Given the description of an element on the screen output the (x, y) to click on. 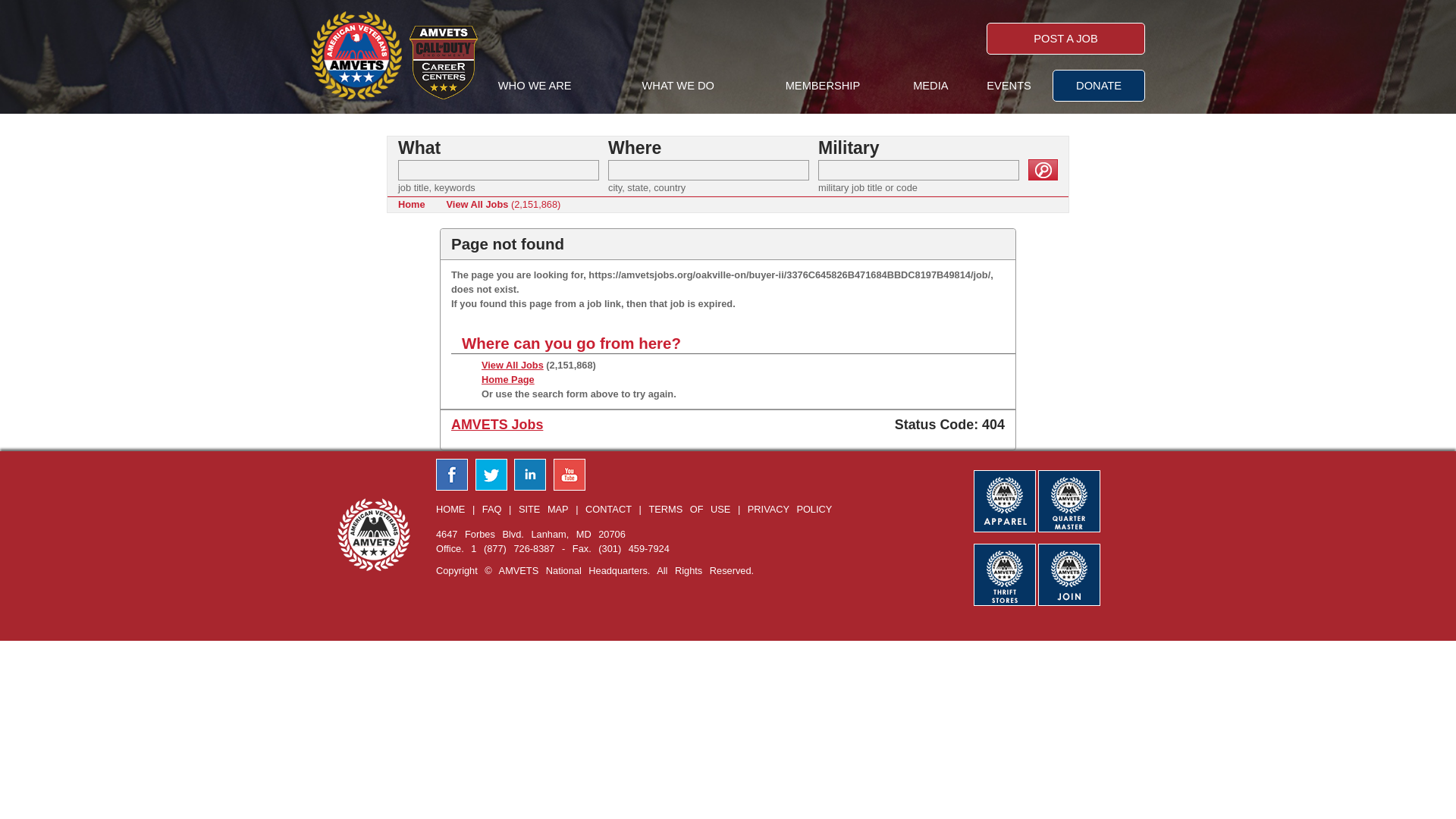
MEMBERSHIP (823, 86)
search (1042, 169)
MEDIA (929, 86)
Submit Search (1042, 169)
AMVETS National Headquarters (356, 55)
WHO WE ARE (534, 86)
Search Phrase (497, 169)
WHAT WE DO (678, 86)
Search Location (708, 169)
Search MOC (918, 169)
POST A JOB (1065, 38)
AMVETS Call of Duty Endowment Career Centers (443, 62)
